Given the description of an element on the screen output the (x, y) to click on. 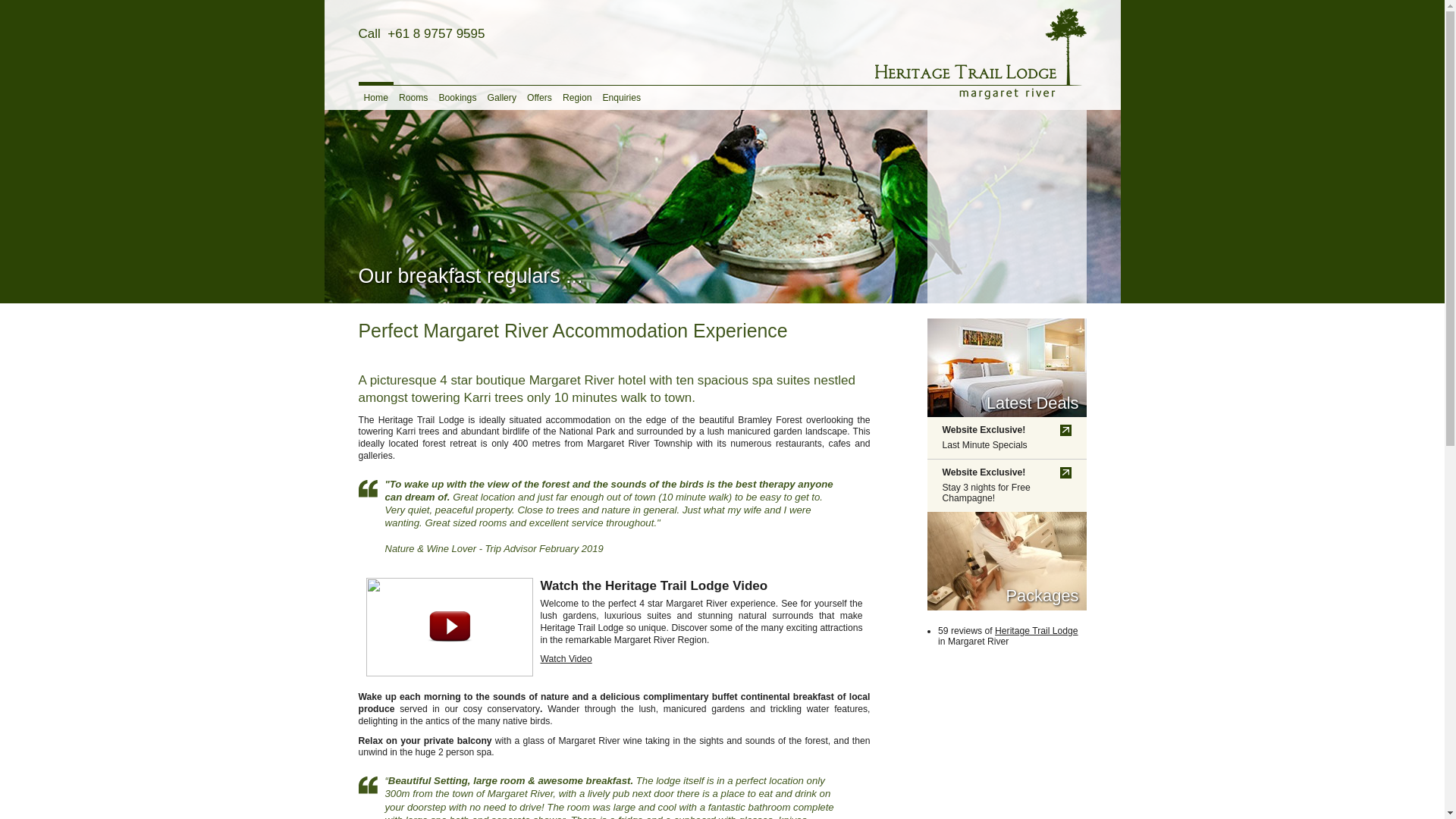
Home Element type: text (374, 95)
Region Element type: text (577, 95)
Margaret River Accommodation
Packages Element type: text (1005, 560)
Gallery Element type: text (501, 95)
Heritage Trail Lodge Element type: text (1035, 630)
Enquiries Element type: text (621, 95)
+61 8 9757 9595 Element type: text (435, 33)
Our breakfast regulars ... Element type: text (722, 151)
Offers Element type: text (539, 95)
Website Exclusive!
Last Minute Specials Element type: text (1005, 438)
Heritage Trail Lodge Element type: text (980, 54)
Bookings Element type: text (457, 95)
Rooms Element type: text (413, 95)
Latest
Margaret River Accommodation
Deals Element type: text (1005, 367)
Website Exclusive!
Stay 3 nights for Free Champagne! Element type: text (1005, 485)
